Given the description of an element on the screen output the (x, y) to click on. 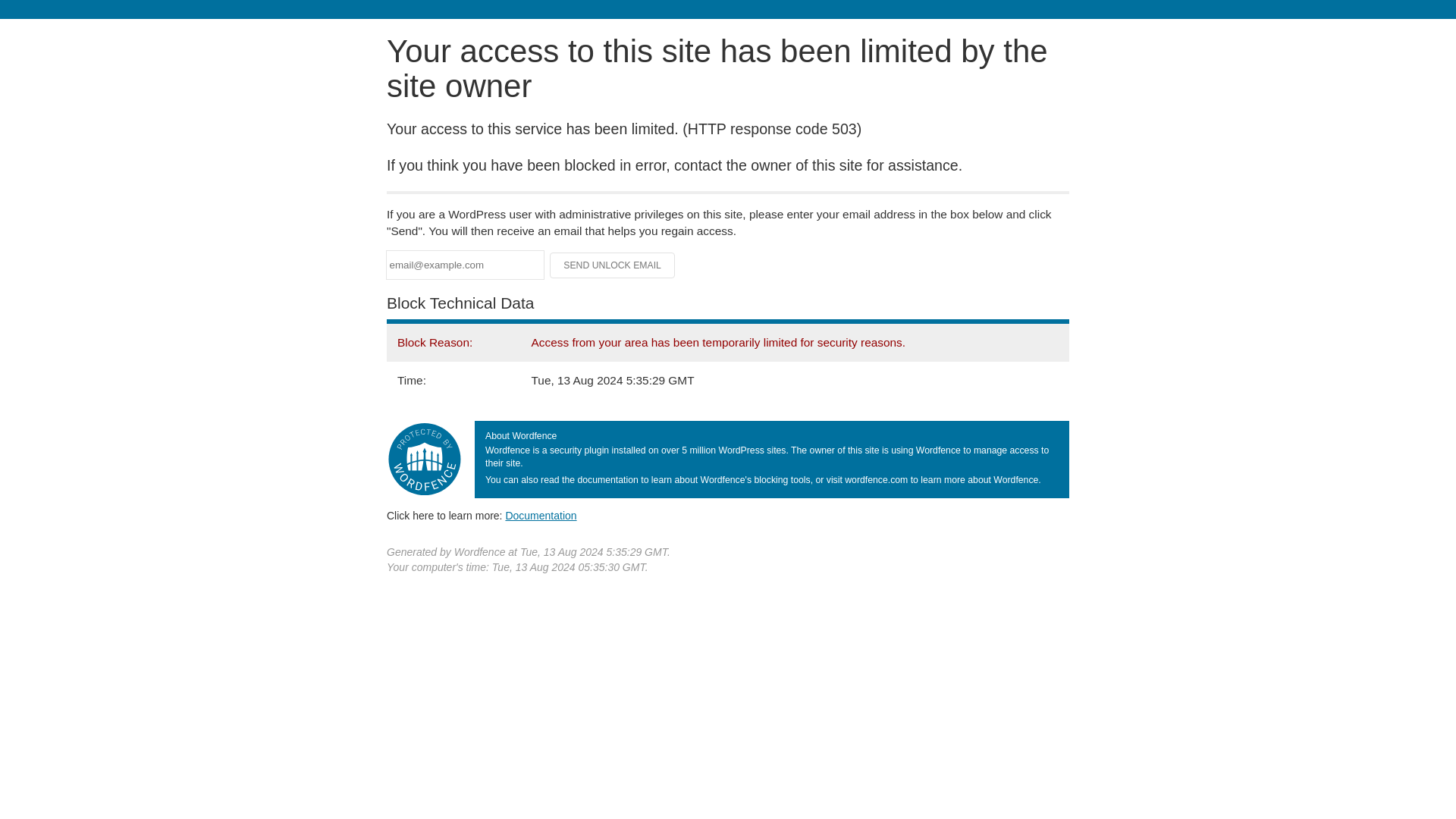
Send Unlock Email (612, 265)
Send Unlock Email (612, 265)
Documentation (540, 515)
